Given the description of an element on the screen output the (x, y) to click on. 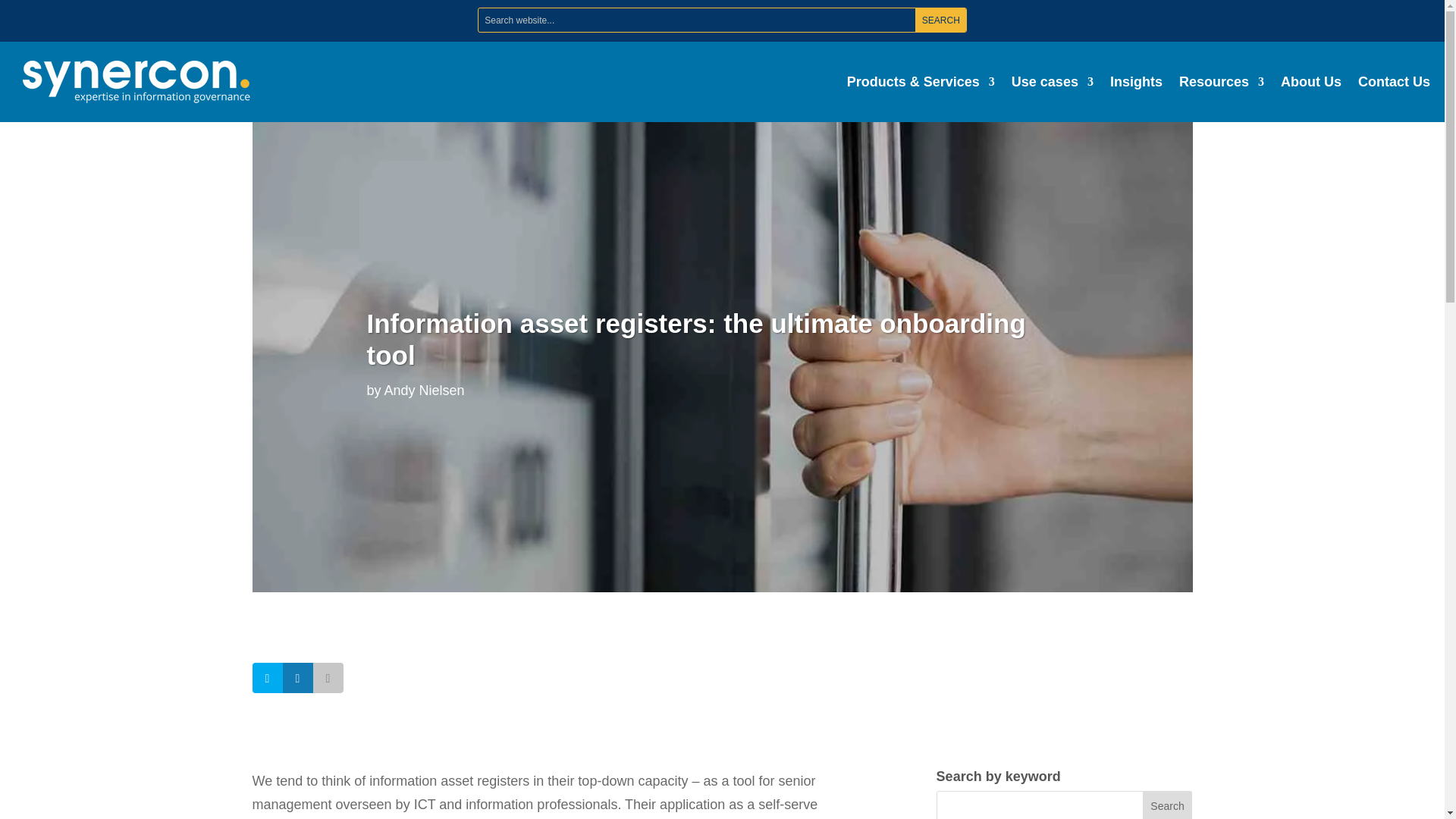
Contact Us (1393, 81)
Resources (1221, 81)
Search (1167, 805)
Search (940, 19)
Search (940, 19)
Andy Nielsen (424, 390)
Insights (1135, 81)
Search (940, 19)
Use cases (1052, 81)
Posts by Andy Nielsen (424, 390)
About Us (1310, 81)
